Given the description of an element on the screen output the (x, y) to click on. 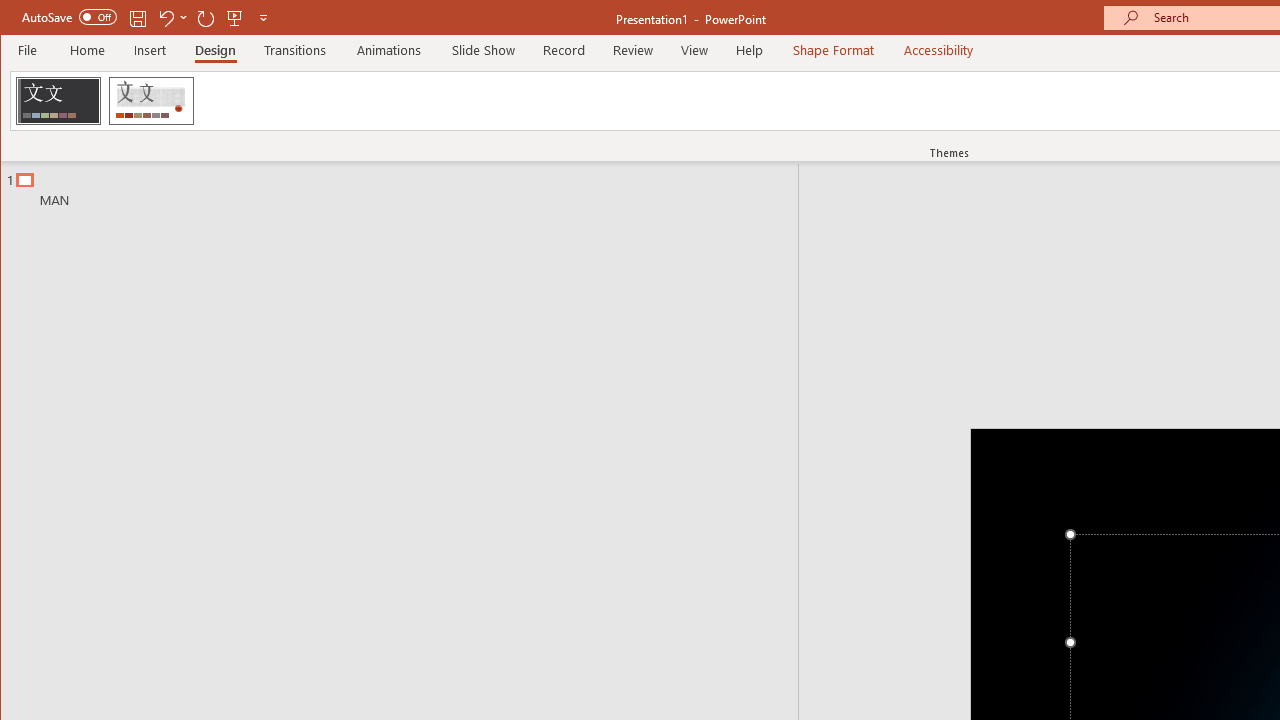
Wood Type (151, 100)
